Given the description of an element on the screen output the (x, y) to click on. 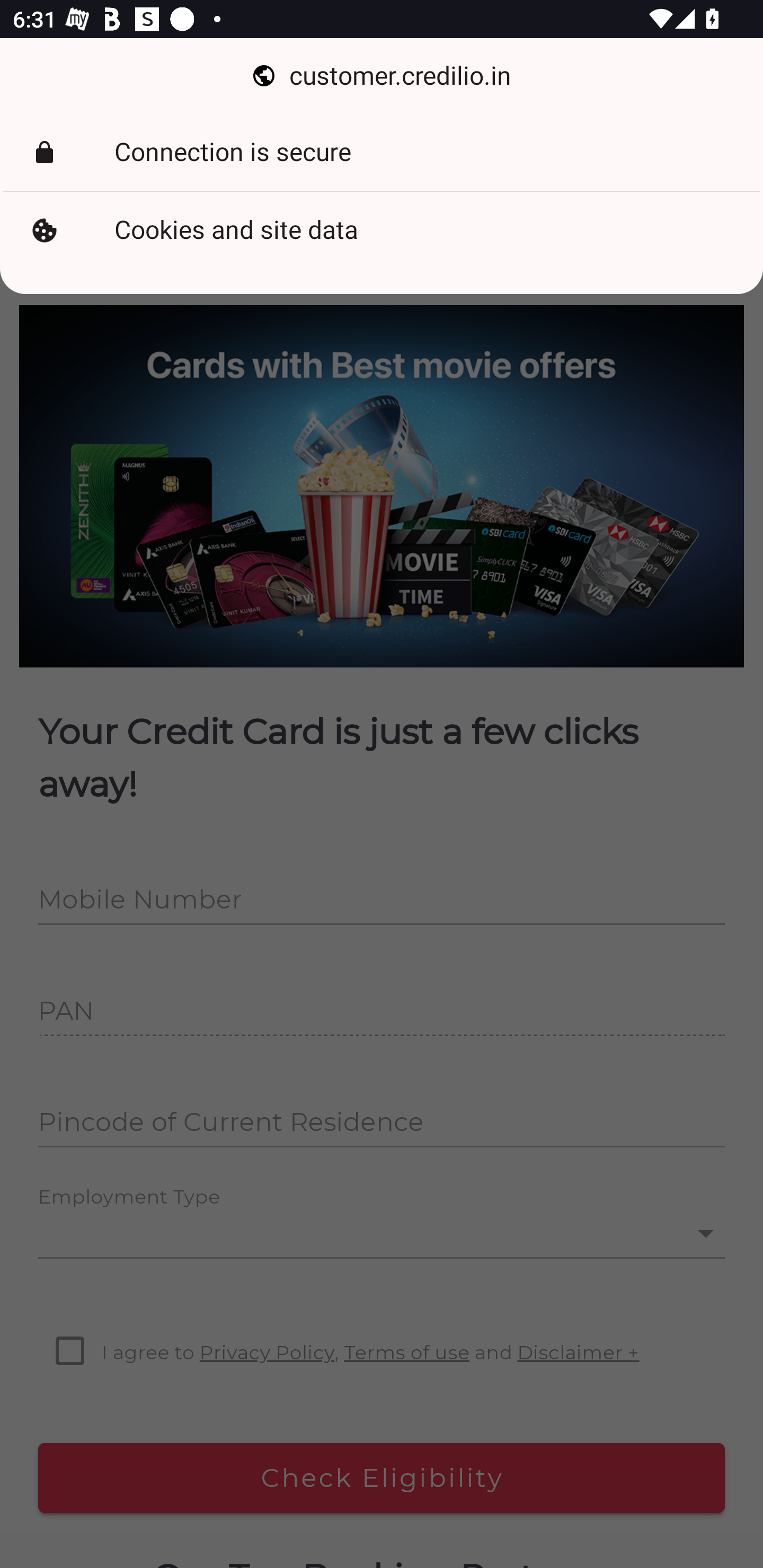
customer.credilio.in (381, 75)
Connection is secure (381, 152)
Cookies and site data (381, 230)
